Given the description of an element on the screen output the (x, y) to click on. 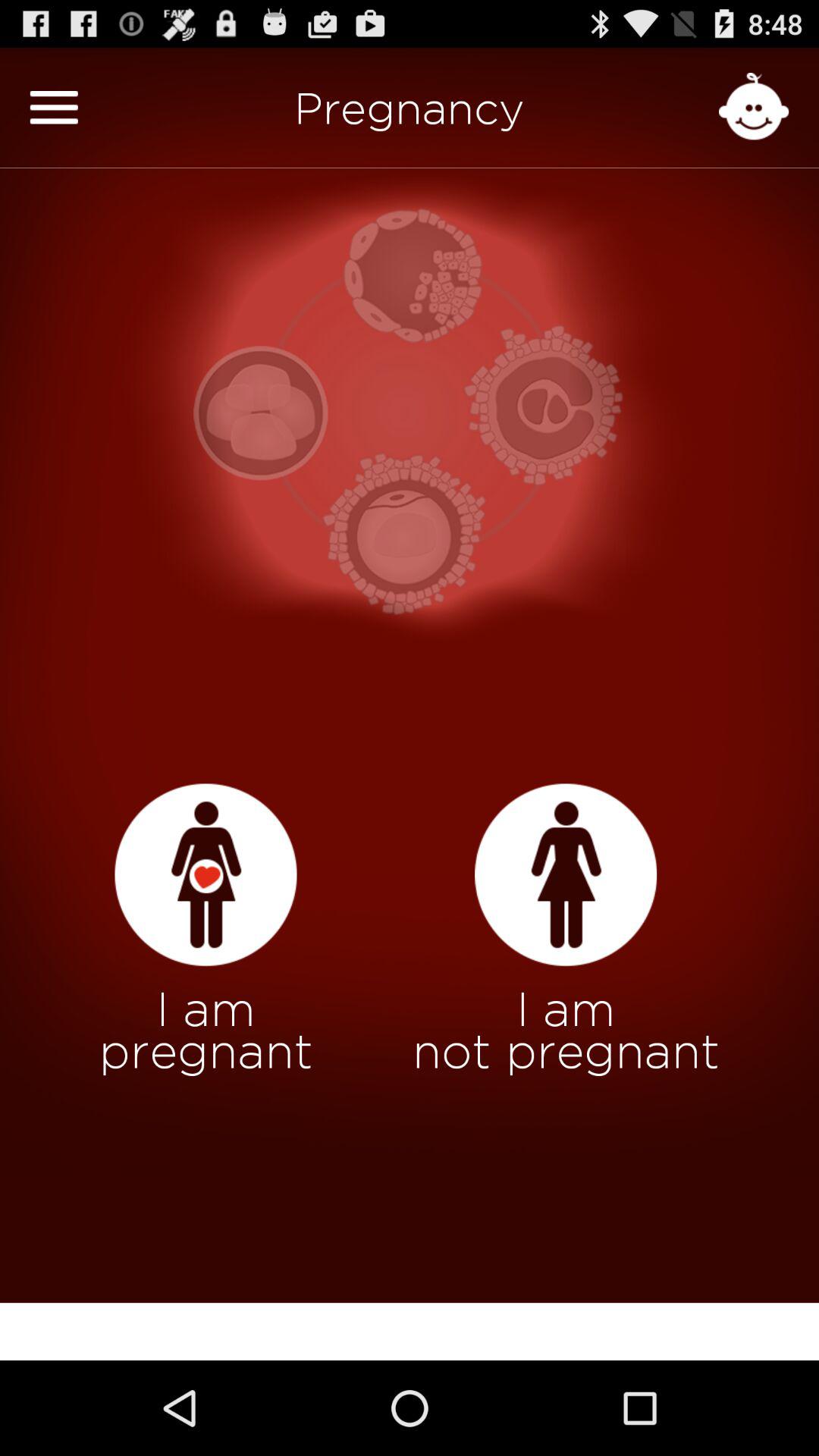
pregnant button mark option (205, 874)
